Given the description of an element on the screen output the (x, y) to click on. 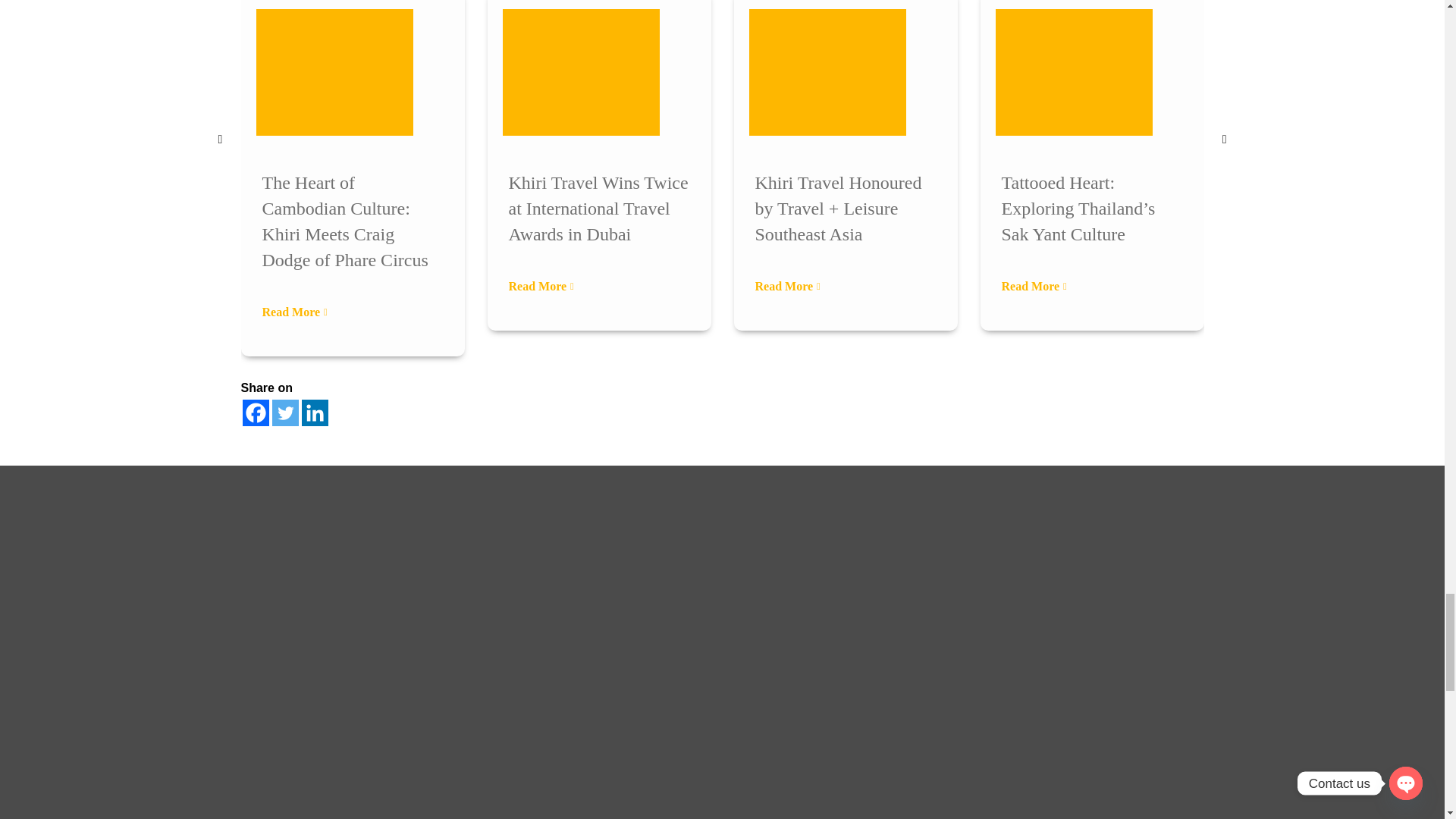
Linkedin (315, 412)
Twitter (284, 412)
Facebook (256, 412)
